Given the description of an element on the screen output the (x, y) to click on. 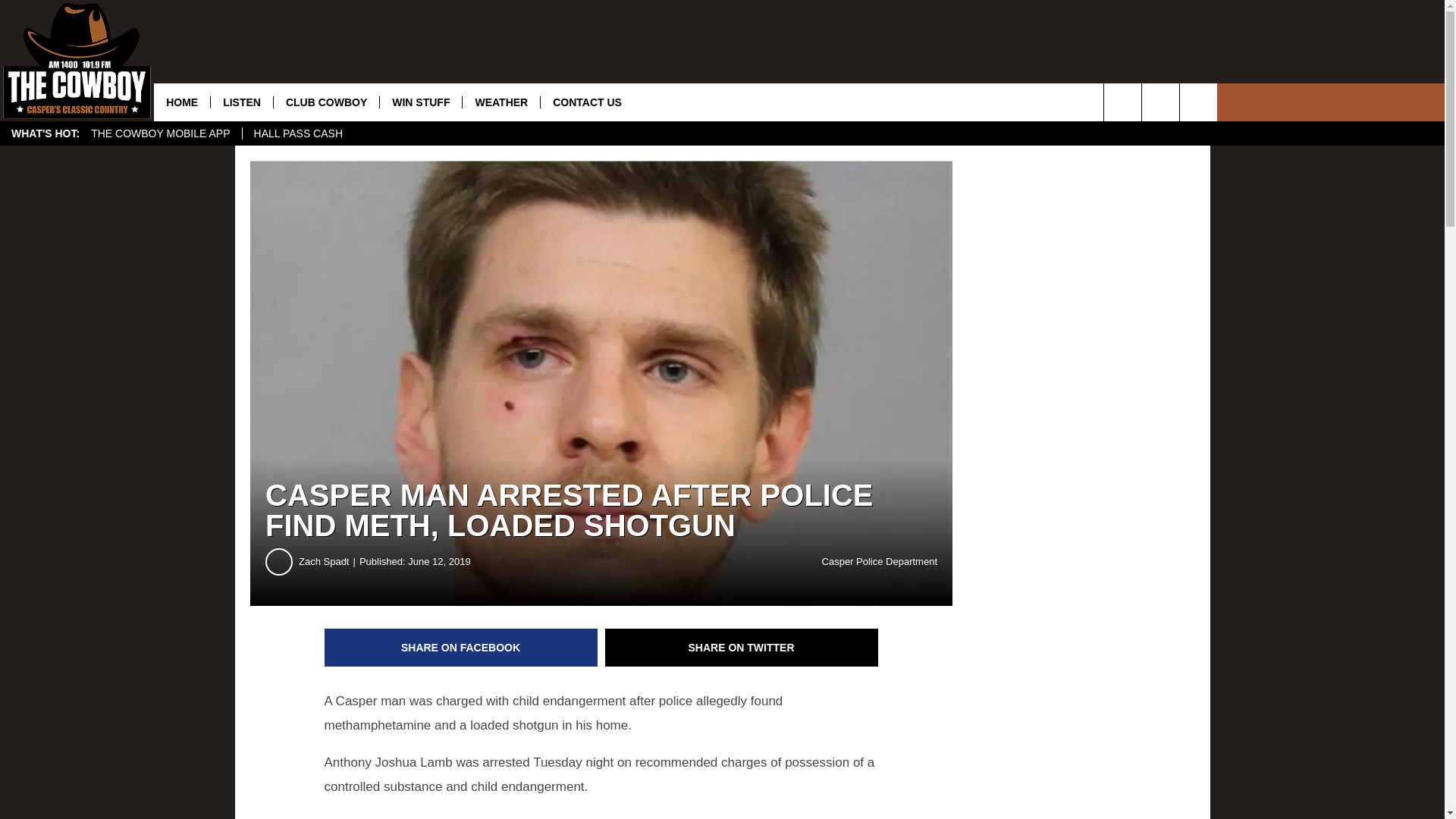
HOME (181, 102)
Share on Twitter (741, 647)
CONTACT US (586, 102)
LISTEN (241, 102)
WIN STUFF (419, 102)
CLUB COWBOY (325, 102)
Share on Facebook (460, 647)
THE COWBOY MOBILE APP (160, 133)
WEATHER (500, 102)
HALL PASS CASH (298, 133)
